Given the description of an element on the screen output the (x, y) to click on. 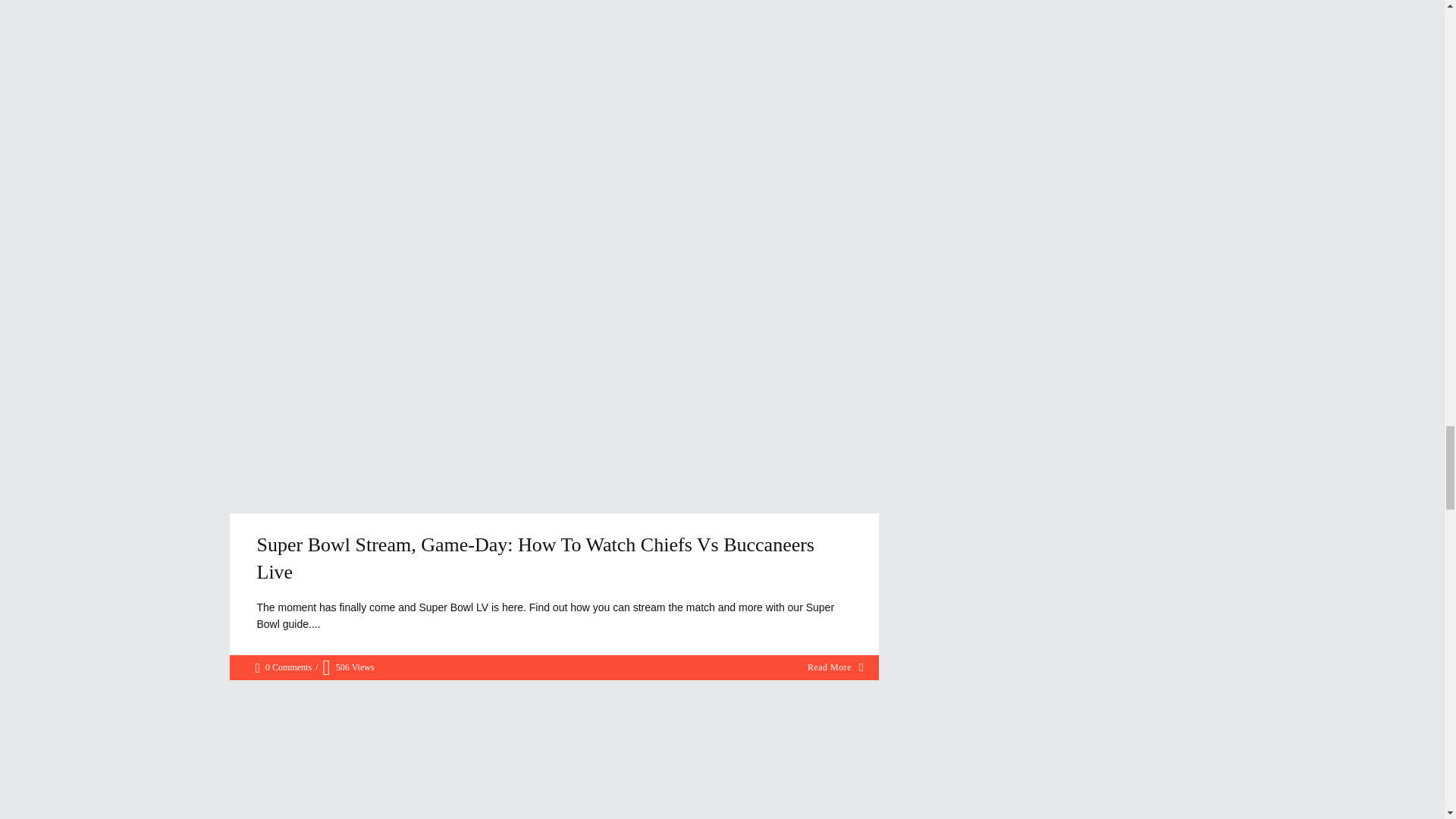
0 Comments (282, 667)
Super Bowl 55 Live stream free on Reddit 2021 From Anywhere (553, 760)
